Given the description of an element on the screen output the (x, y) to click on. 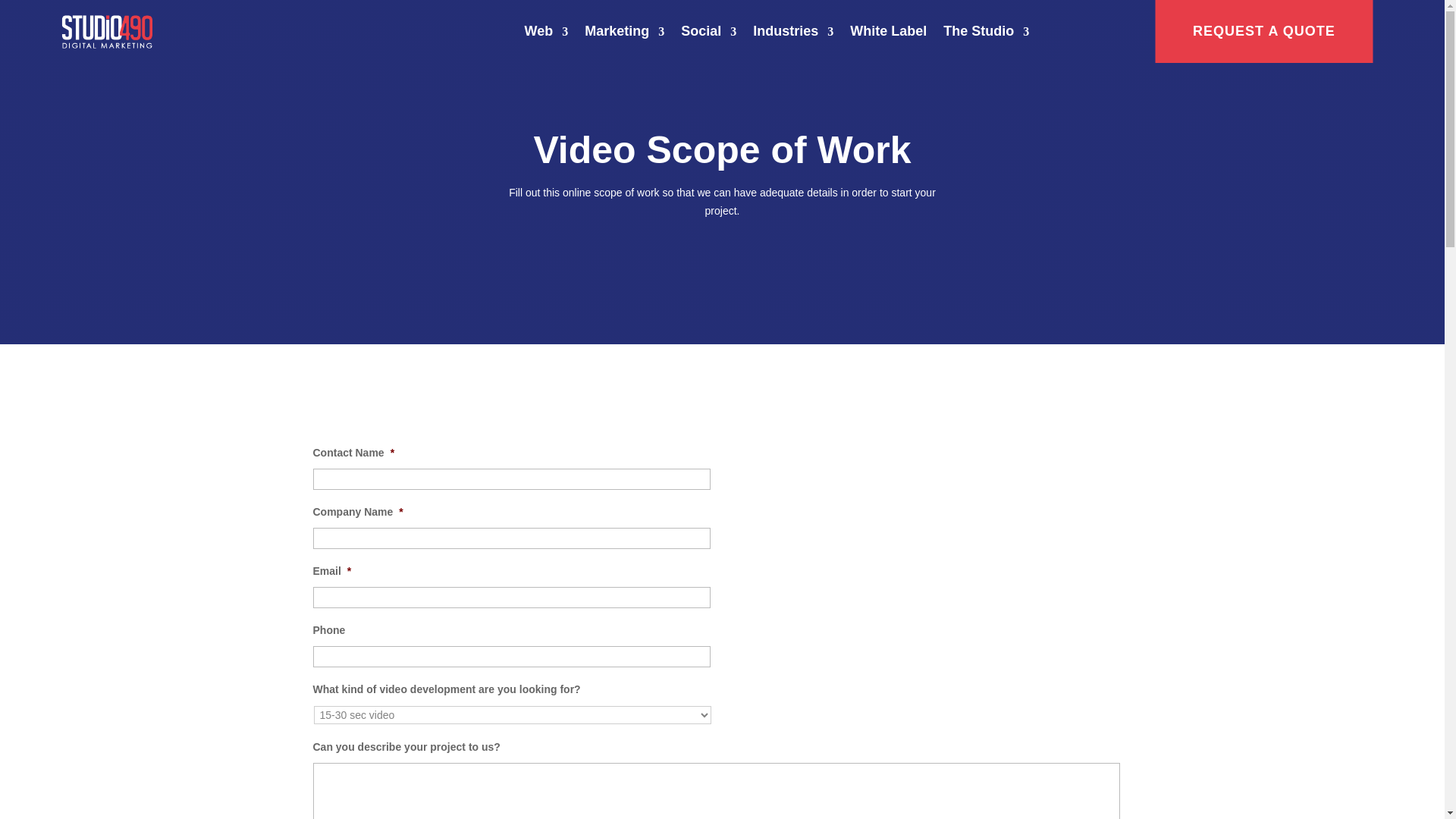
Industries (792, 31)
The Studio (986, 31)
Marketing (624, 31)
White Label (888, 31)
REQUEST A QUOTE (1263, 31)
